Given the description of an element on the screen output the (x, y) to click on. 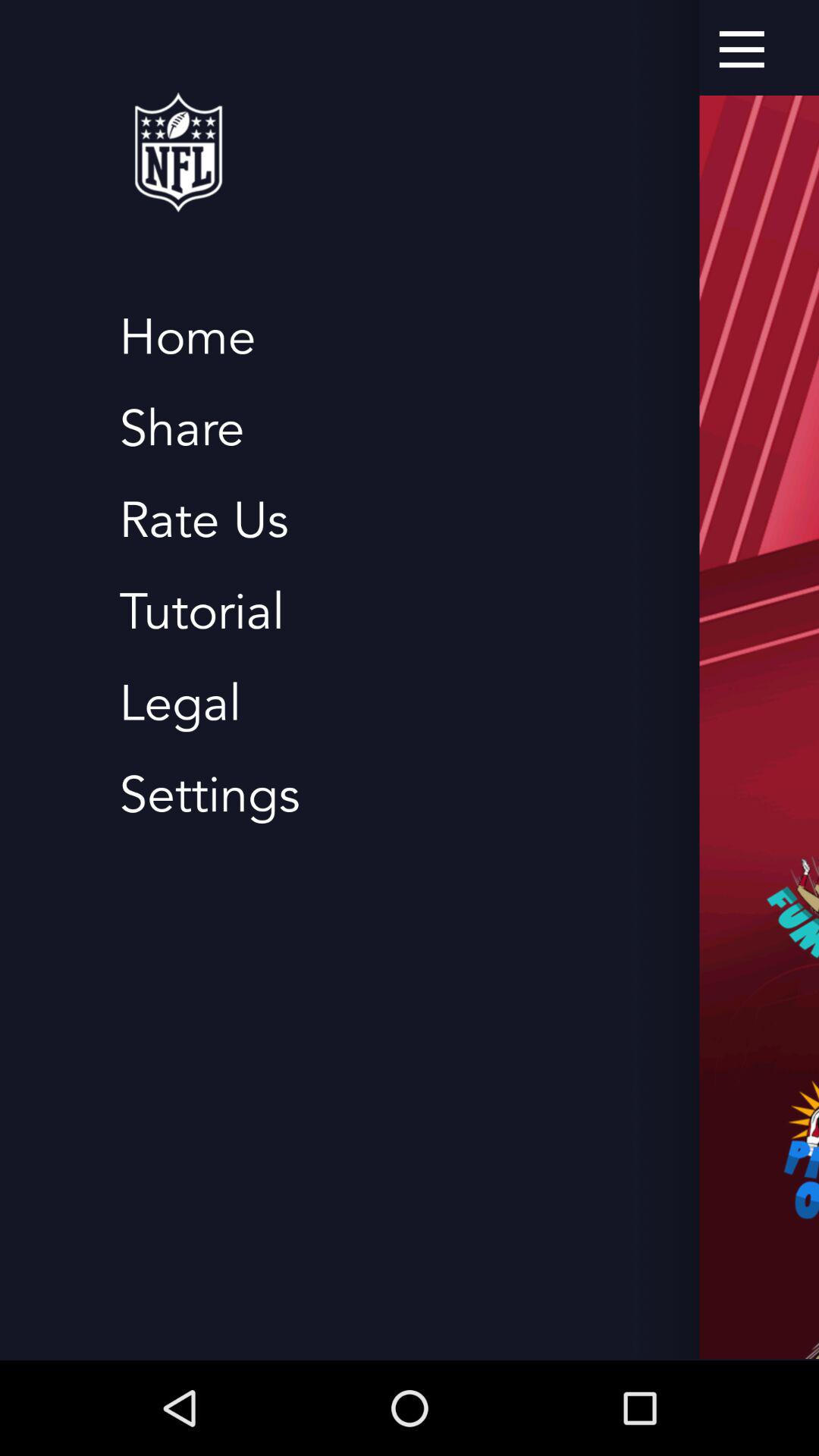
scroll until the rate us item (203, 520)
